Given the description of an element on the screen output the (x, y) to click on. 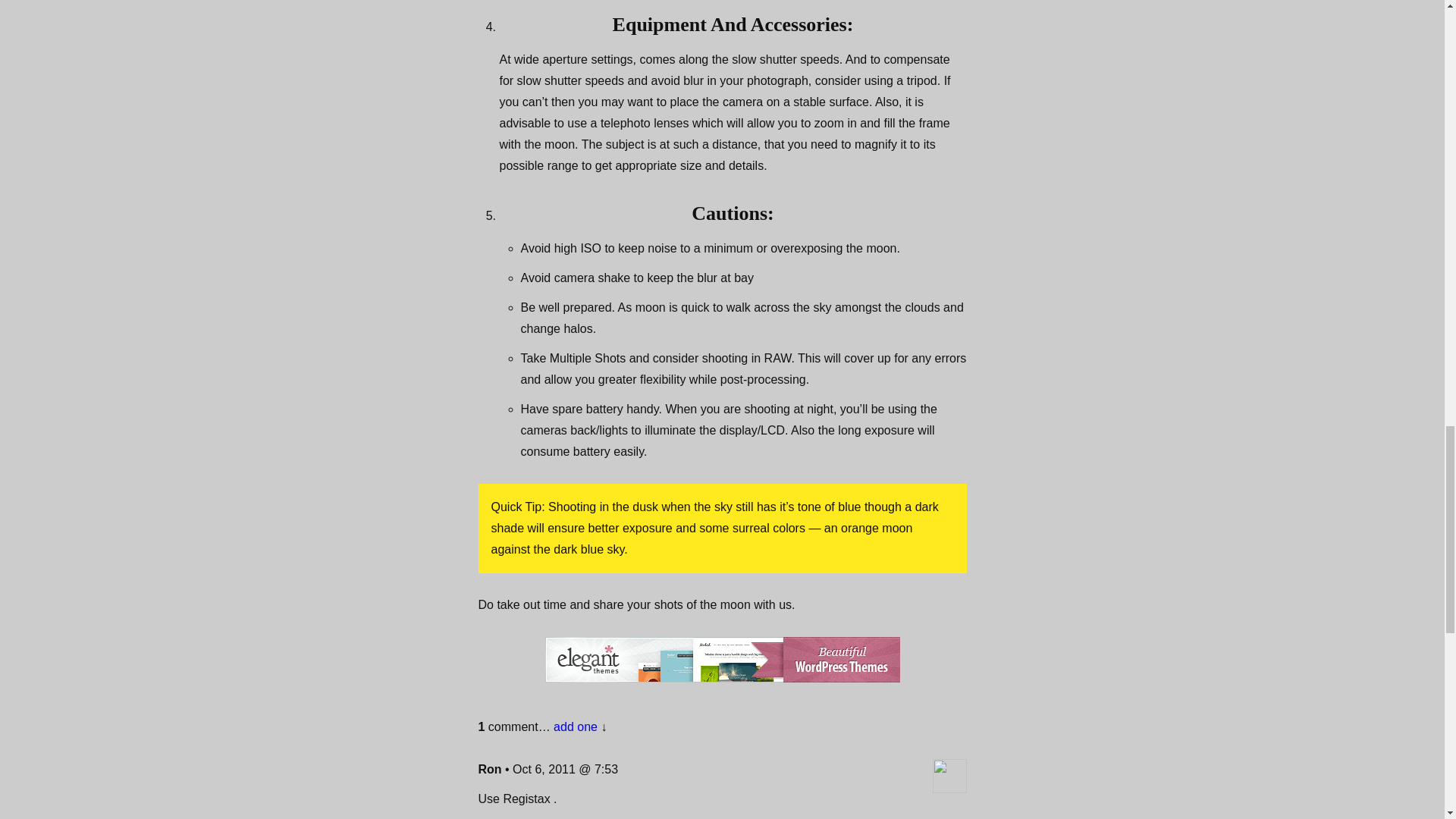
add one (574, 726)
